Given the description of an element on the screen output the (x, y) to click on. 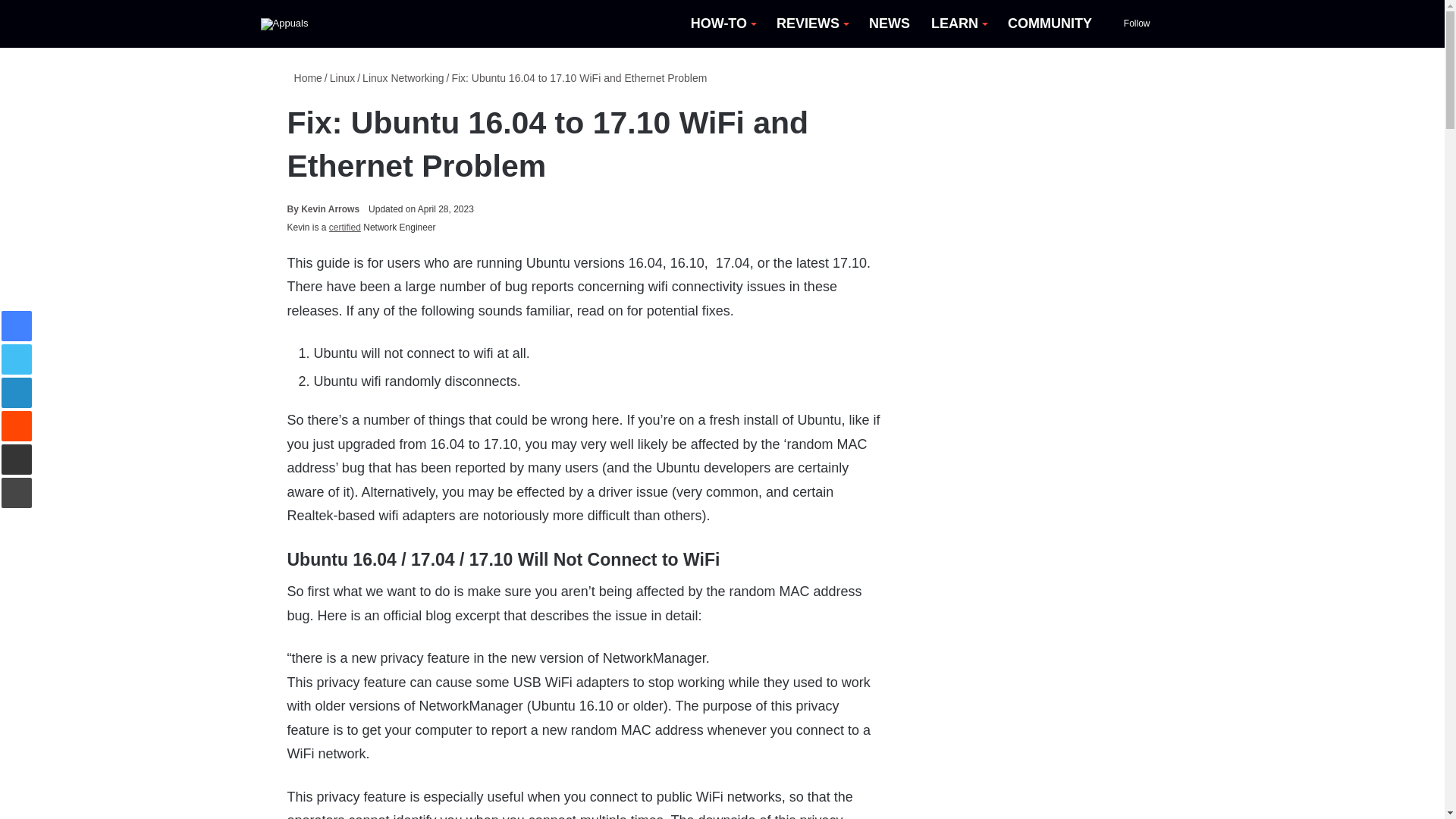
LinkedIn (16, 392)
REVIEWS (812, 23)
Facebook (16, 326)
COMMUNITY (1049, 23)
Print (16, 492)
Share via Email (16, 459)
Reddit (16, 426)
Kevin Arrows (322, 208)
HOW-TO (722, 23)
Appuals (284, 24)
